Given the description of an element on the screen output the (x, y) to click on. 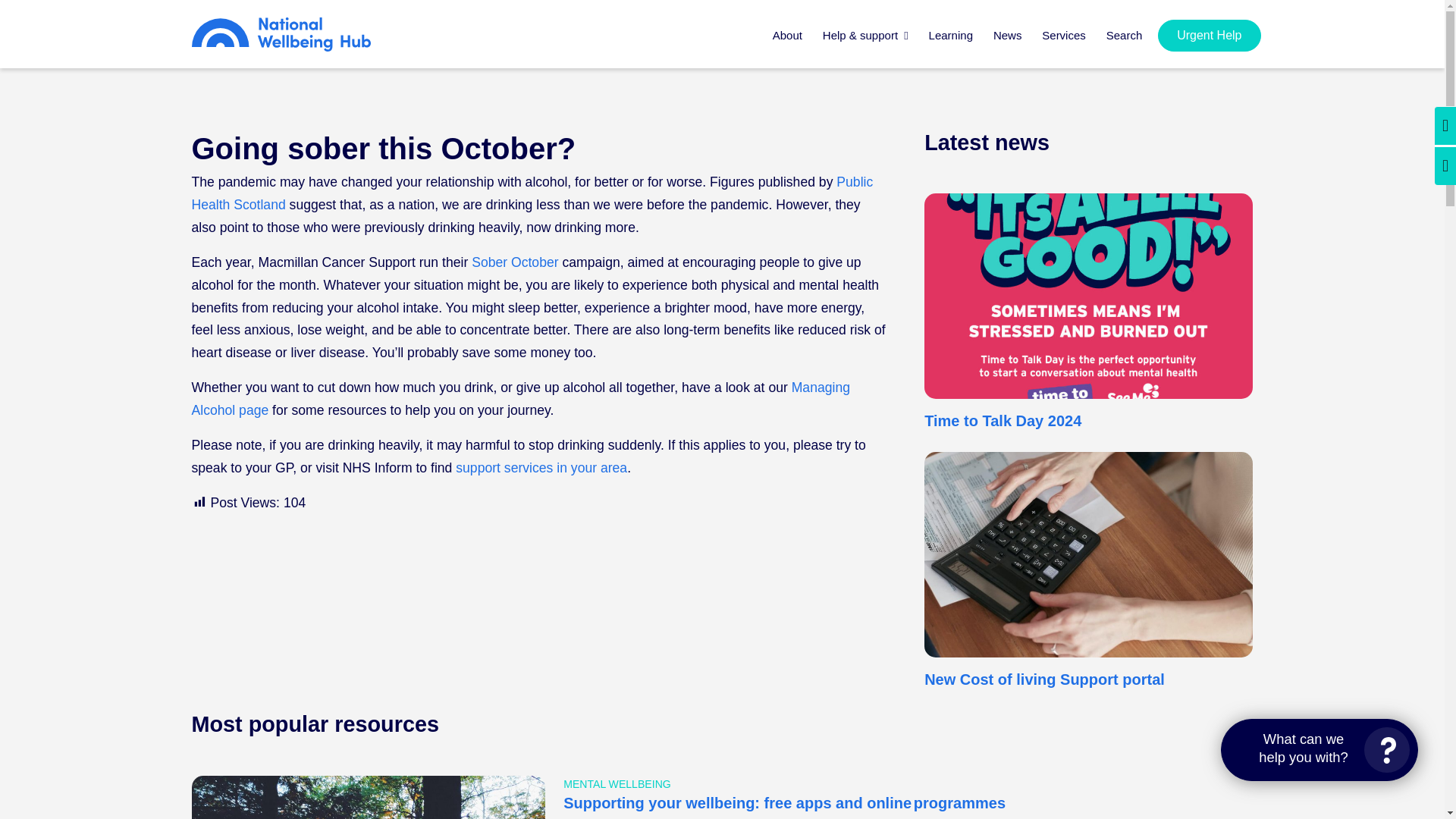
New Cost of living Support portal (1044, 678)
What can we help you with? (1319, 750)
MENTAL WELLBEING (617, 784)
Learning (950, 44)
Sober October (514, 262)
Public Health Scotland (531, 193)
support services in your area (541, 467)
Time to Talk Day 2024 (1002, 420)
Urgent Help (1208, 35)
